Given the description of an element on the screen output the (x, y) to click on. 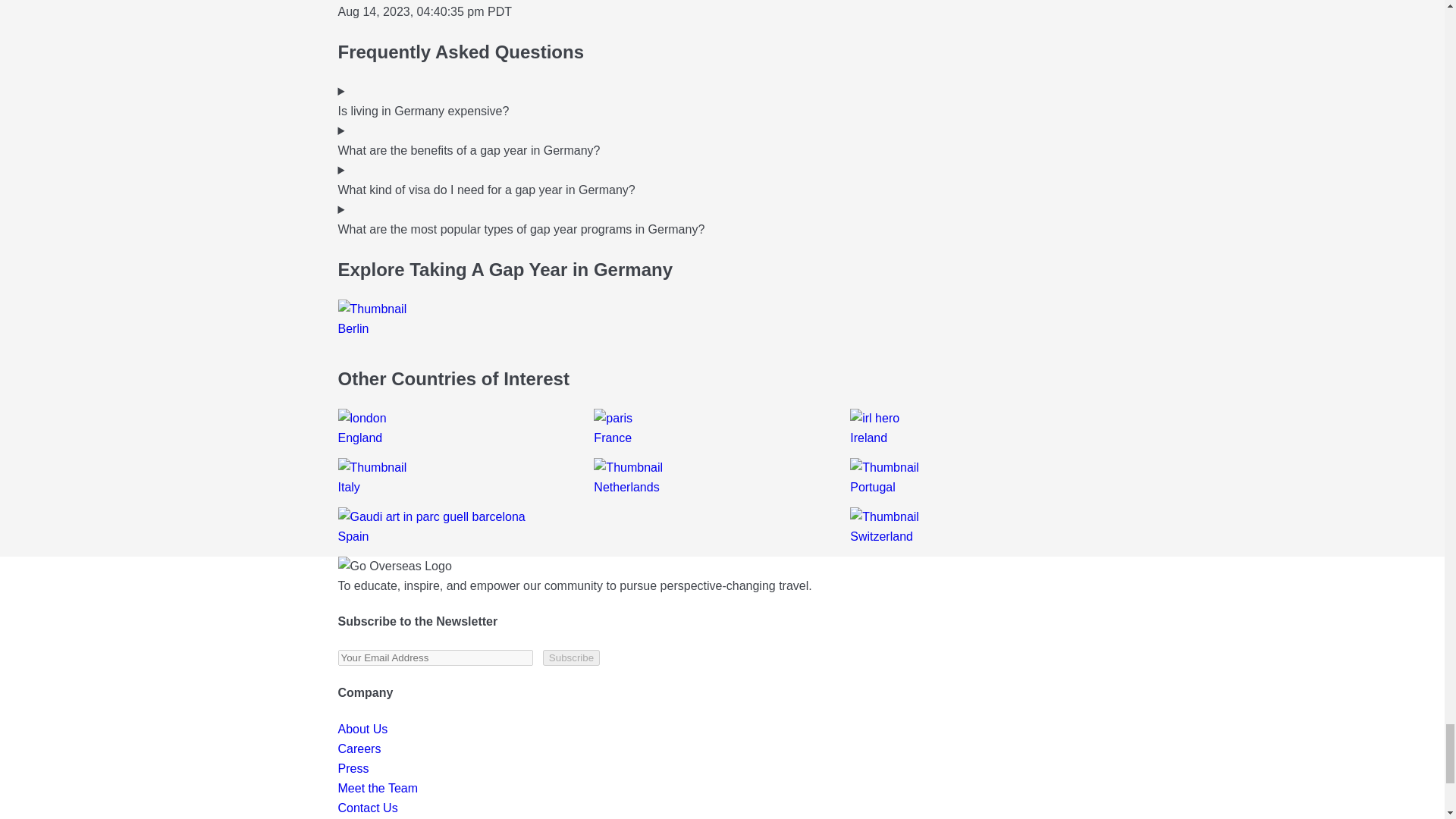
Subscribe (571, 657)
